Given the description of an element on the screen output the (x, y) to click on. 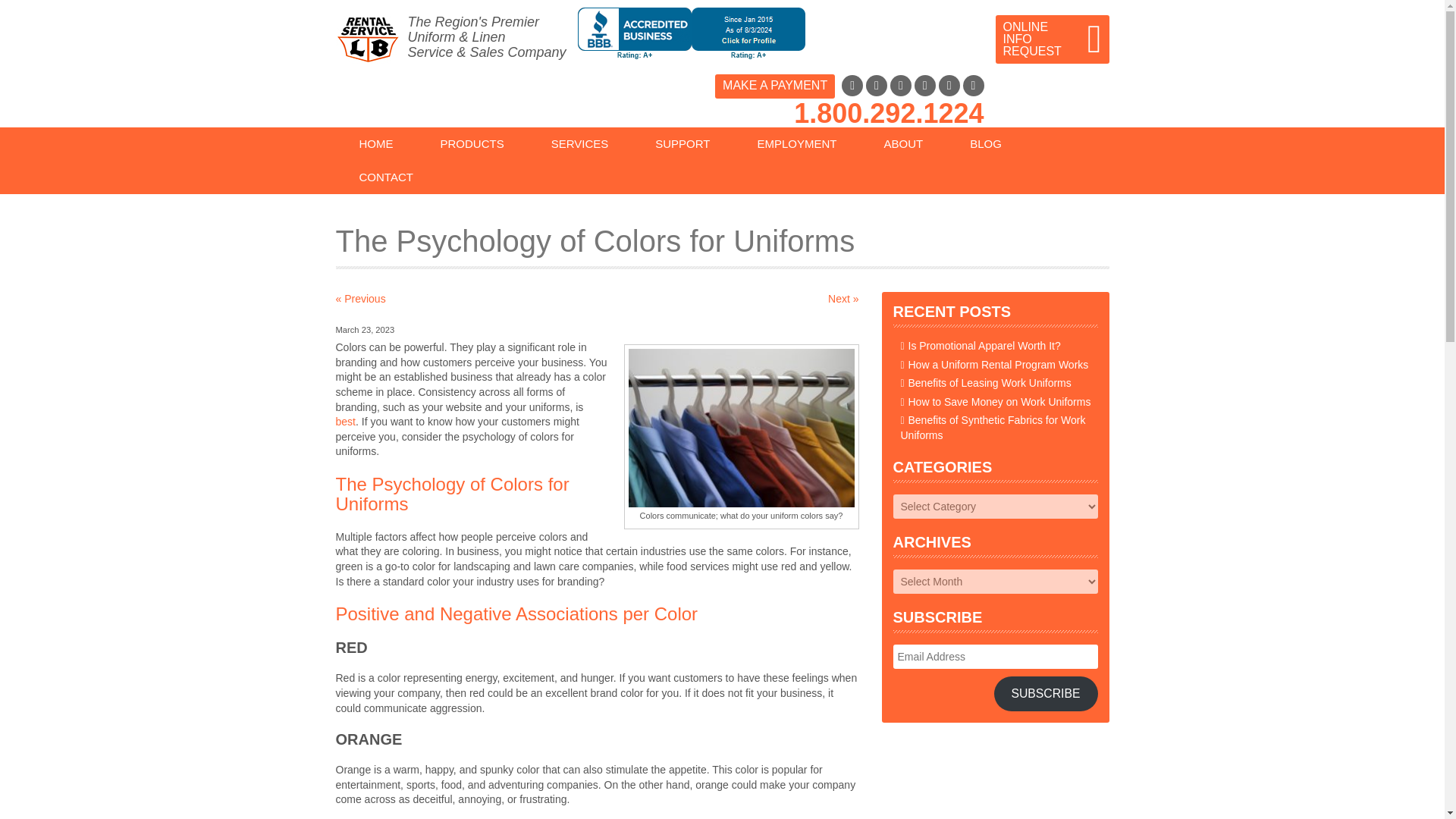
1.800.292.1224 (888, 112)
HOME (375, 143)
ONLINE INFO REQUEST (1051, 39)
ABOUT (903, 143)
EMPLOYMENT (796, 143)
SUPPORT (682, 143)
PRODUCTS (471, 143)
MAKE A PAYMENT (774, 86)
SERVICES (579, 143)
